Given the description of an element on the screen output the (x, y) to click on. 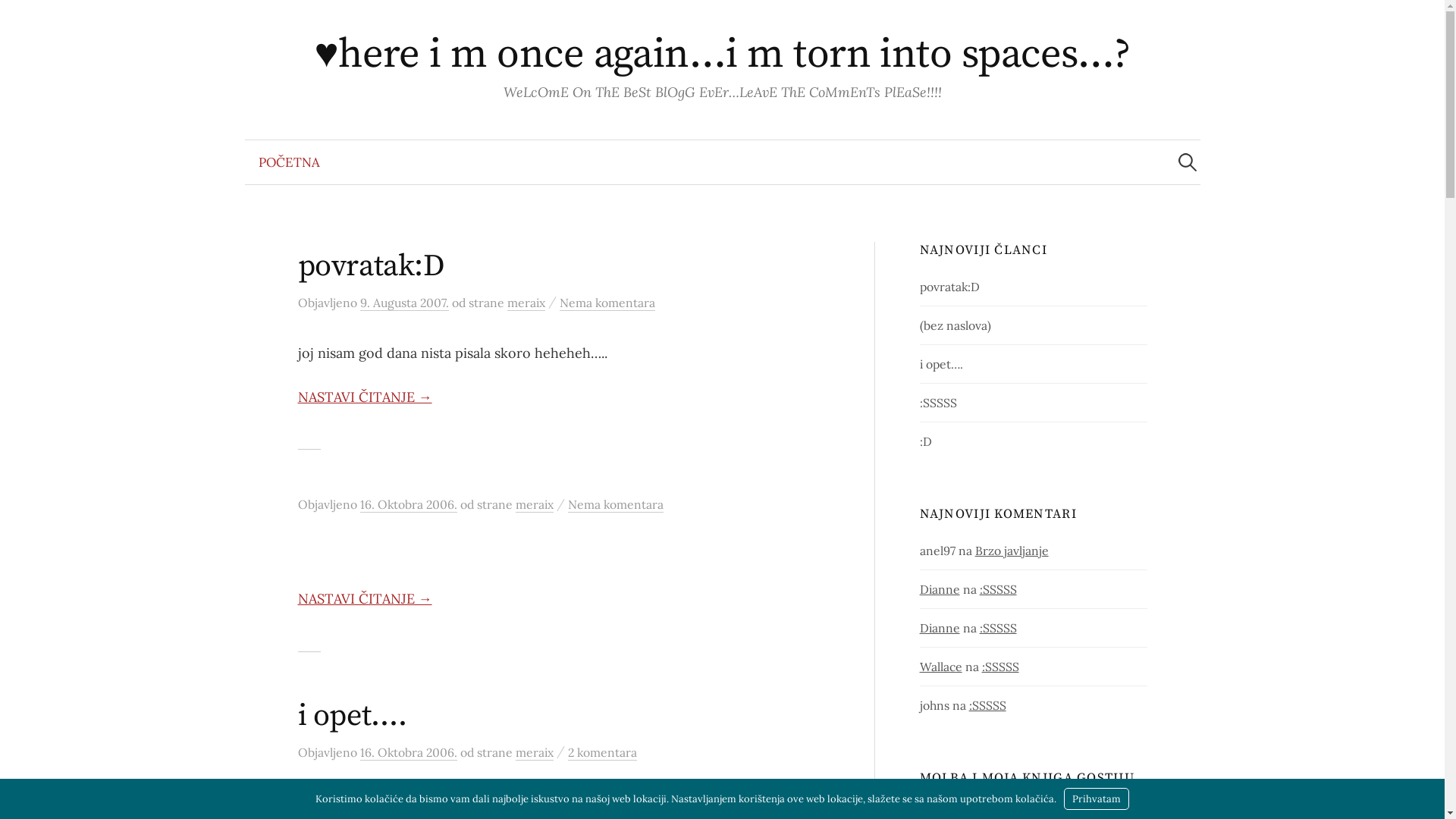
:SSSSS Element type: text (997, 588)
meraix Element type: text (534, 504)
:SSSSS Element type: text (997, 627)
povratak:D Element type: text (370, 266)
Pretraga Element type: text (18, 18)
Dianne Element type: text (939, 588)
Prihvatam Element type: text (1096, 798)
:D Element type: text (925, 440)
Brzo javljanje Element type: text (1011, 550)
:SSSSS Element type: text (938, 402)
meraix Element type: text (534, 752)
Wallace Element type: text (940, 666)
:SSSSS Element type: text (1000, 666)
povratak:D Element type: text (949, 286)
Nema komentara
na Element type: text (614, 504)
9. Augusta 2007. Element type: text (403, 302)
(bez naslova) Element type: text (955, 324)
Nema komentara
na povratak:D Element type: text (607, 302)
Dianne Element type: text (939, 627)
16. Oktobra 2006. Element type: text (407, 752)
16. Oktobra 2006. Element type: text (407, 504)
:SSSSS Element type: text (987, 704)
meraix Element type: text (525, 302)
